Given the description of an element on the screen output the (x, y) to click on. 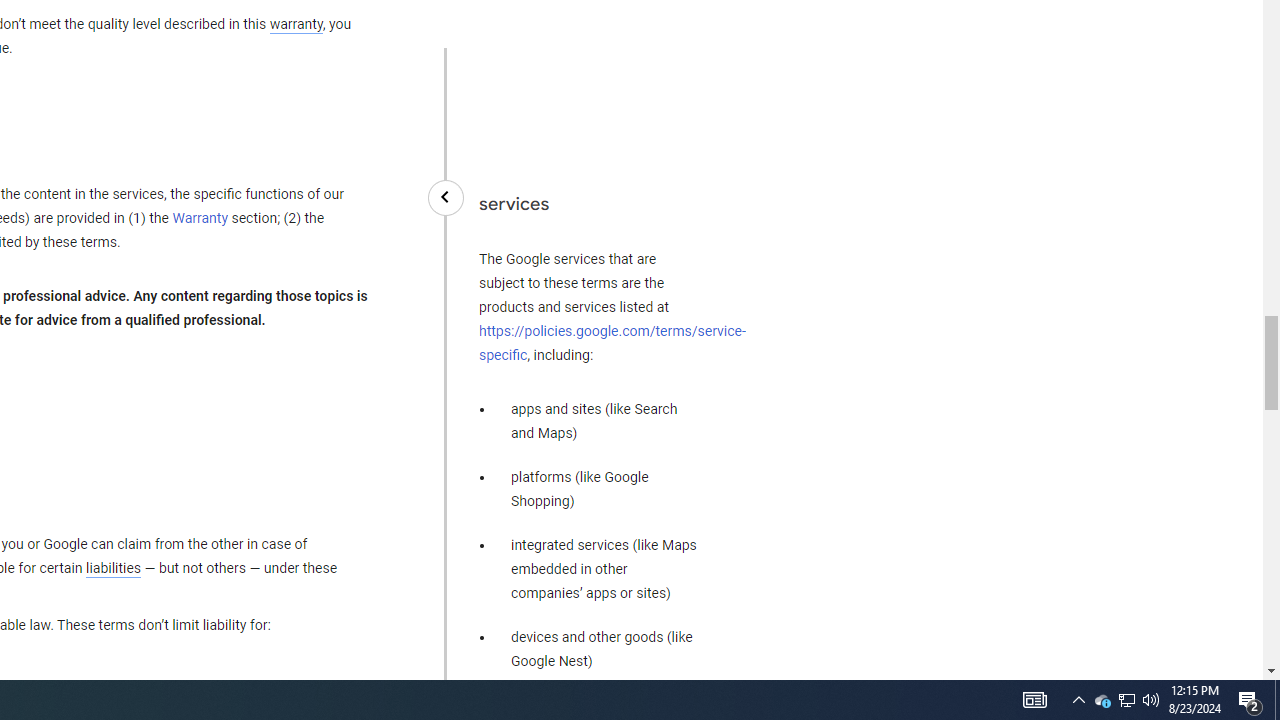
liabilities (113, 568)
Warranty (200, 219)
https://policies.google.com/terms/service-specific (612, 342)
warranty (295, 25)
